Given the description of an element on the screen output the (x, y) to click on. 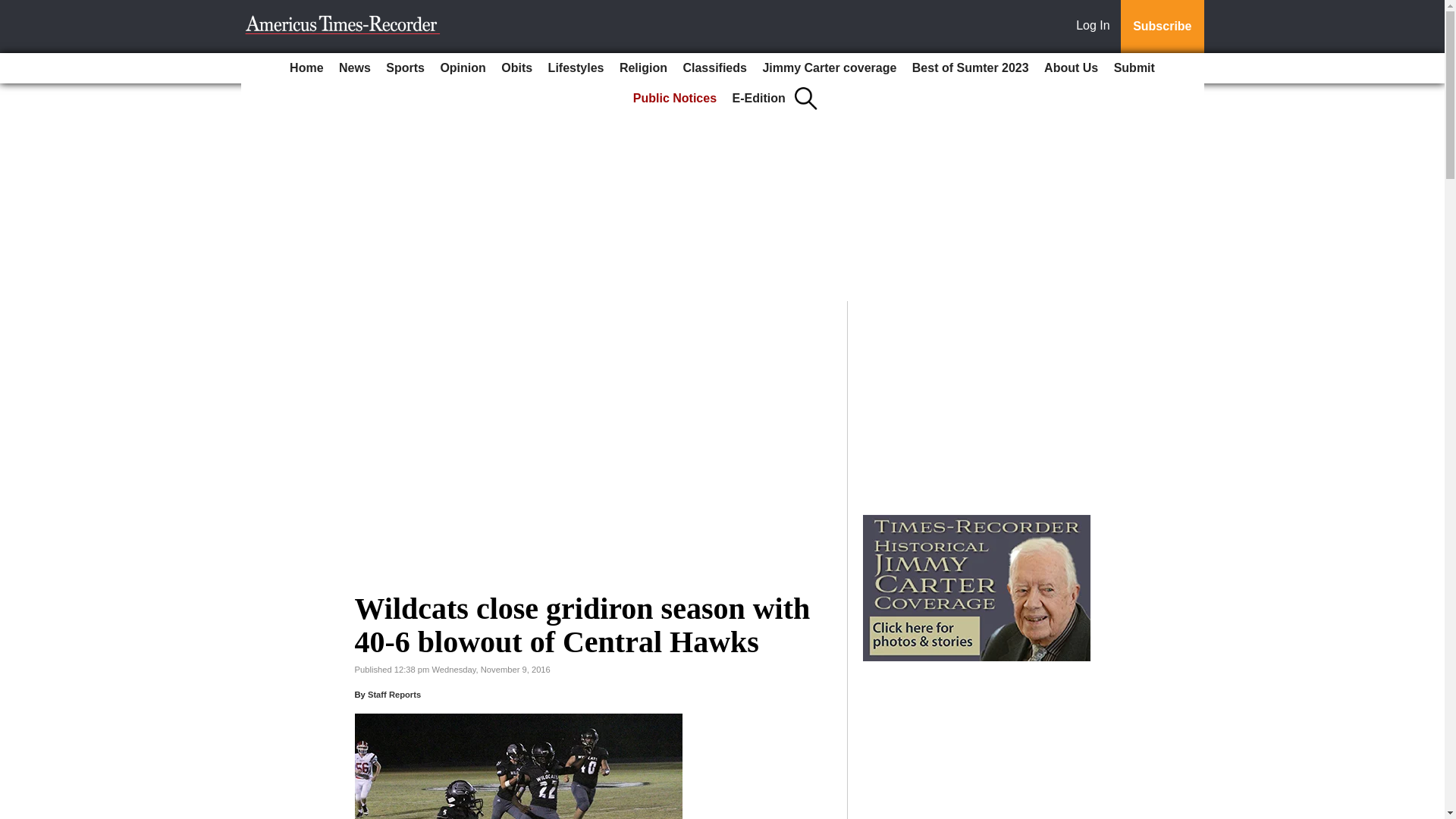
Best of Sumter 2023 (970, 68)
Classifieds (714, 68)
Jimmy Carter coverage (828, 68)
Religion (642, 68)
Opinion (462, 68)
About Us (1070, 68)
Staff Reports (394, 694)
E-Edition (759, 98)
Home (306, 68)
Log In (1095, 26)
News (355, 68)
Obits (516, 68)
Go (13, 9)
Lifestyles (575, 68)
Public Notices (674, 98)
